Given the description of an element on the screen output the (x, y) to click on. 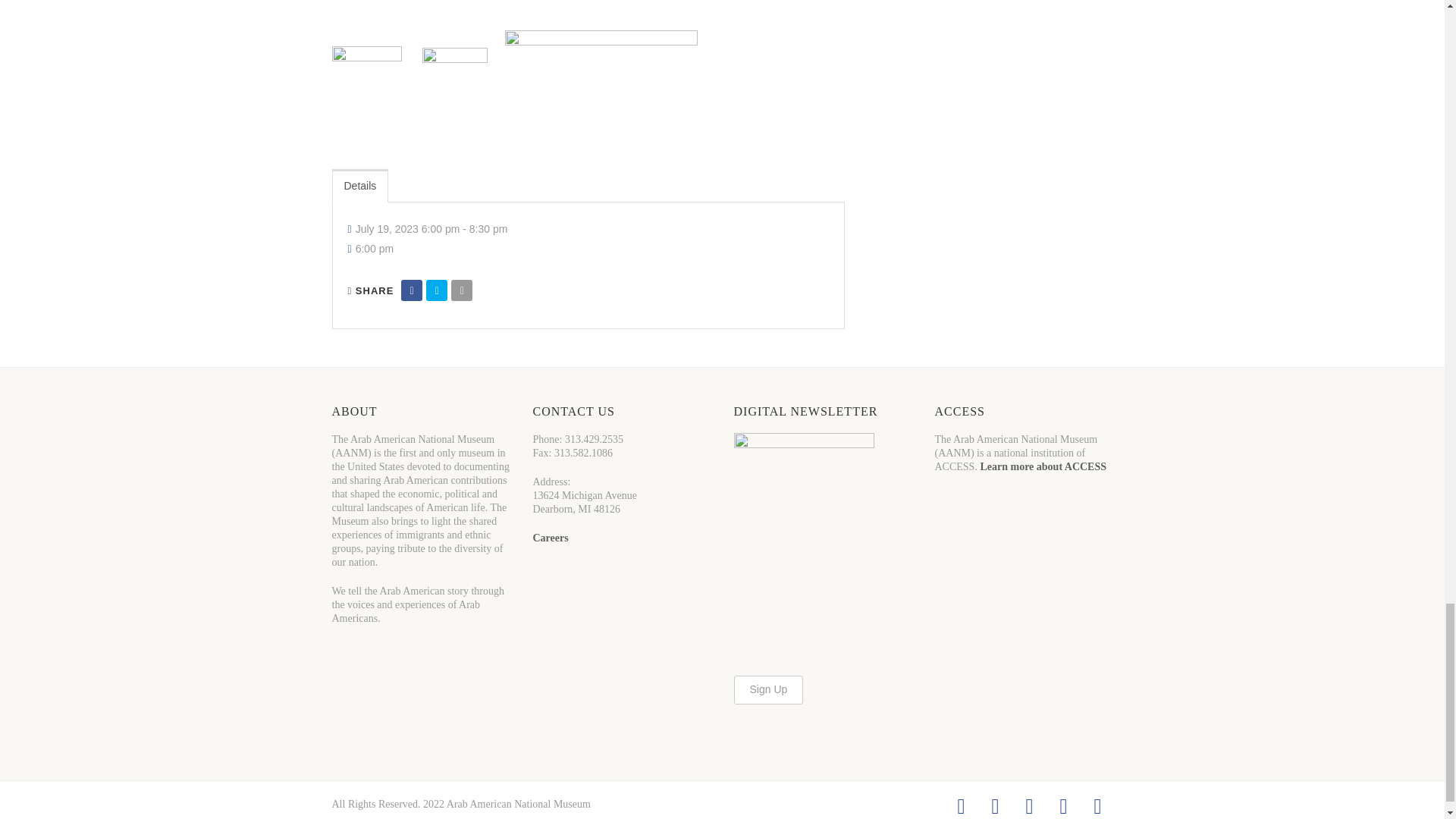
Tweet (436, 290)
Email (461, 290)
Share on Facebook (411, 290)
